Given the description of an element on the screen output the (x, y) to click on. 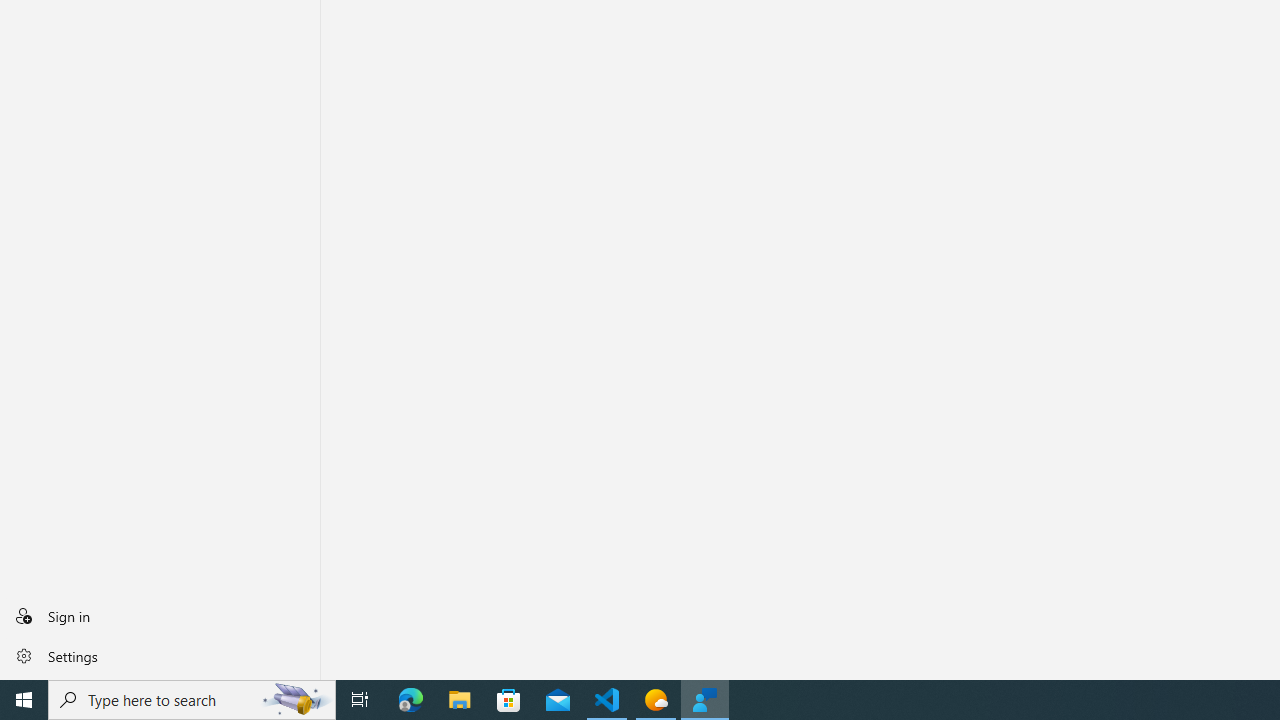
Type here to search (191, 699)
Settings (159, 655)
Start (24, 699)
Visual Studio Code - 1 running window (607, 699)
Sign in (159, 616)
Search highlights icon opens search home window (295, 699)
Microsoft Edge (411, 699)
Task View (359, 699)
Microsoft Store (509, 699)
Weather - 1 running window (656, 699)
File Explorer (460, 699)
Feedback Hub - 1 running window (704, 699)
